Given the description of an element on the screen output the (x, y) to click on. 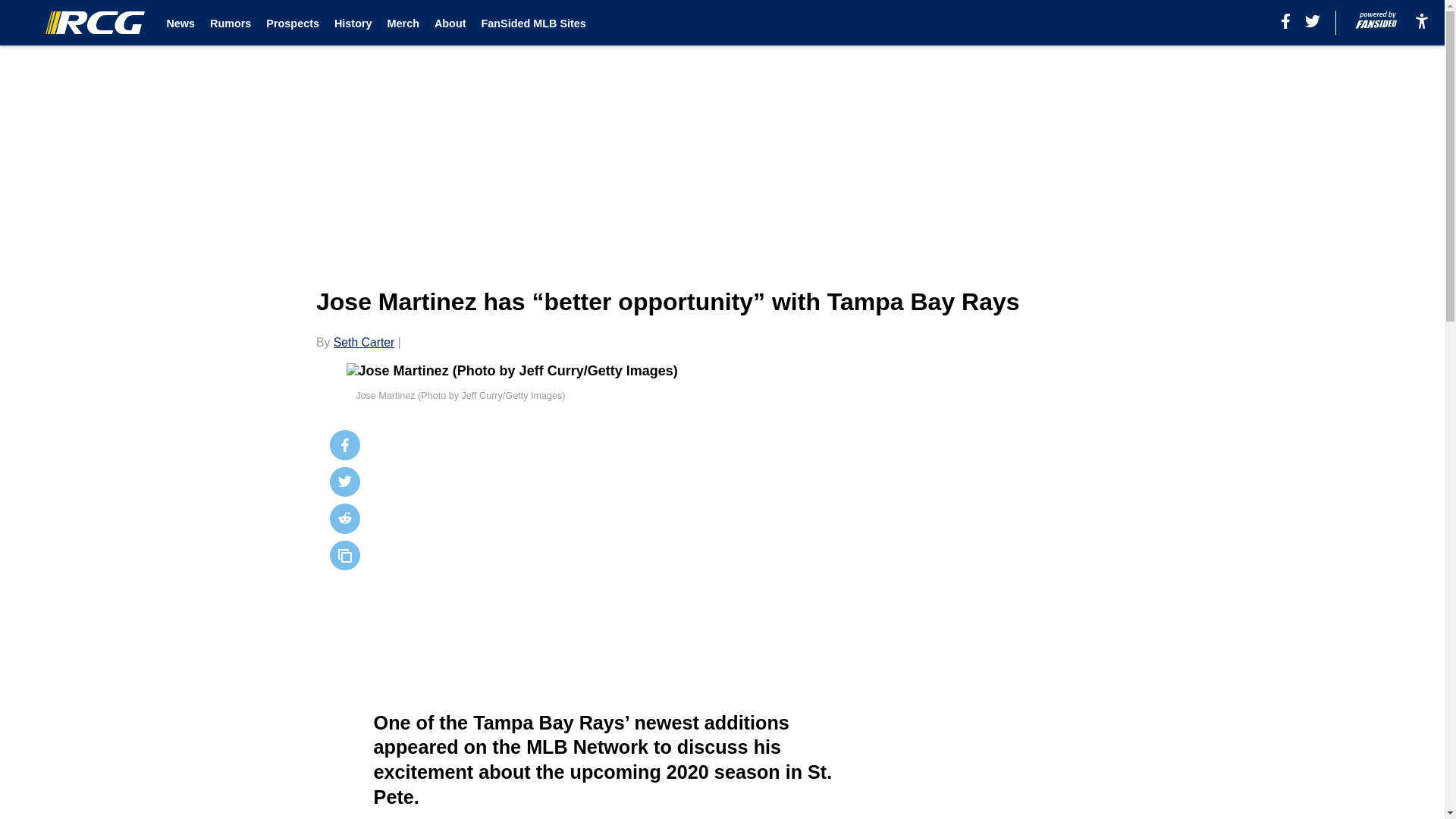
About (449, 23)
History (353, 23)
FanSided MLB Sites (532, 23)
Seth Carter (363, 341)
News (180, 23)
Rumors (229, 23)
Merch (403, 23)
Prospects (292, 23)
